Given the description of an element on the screen output the (x, y) to click on. 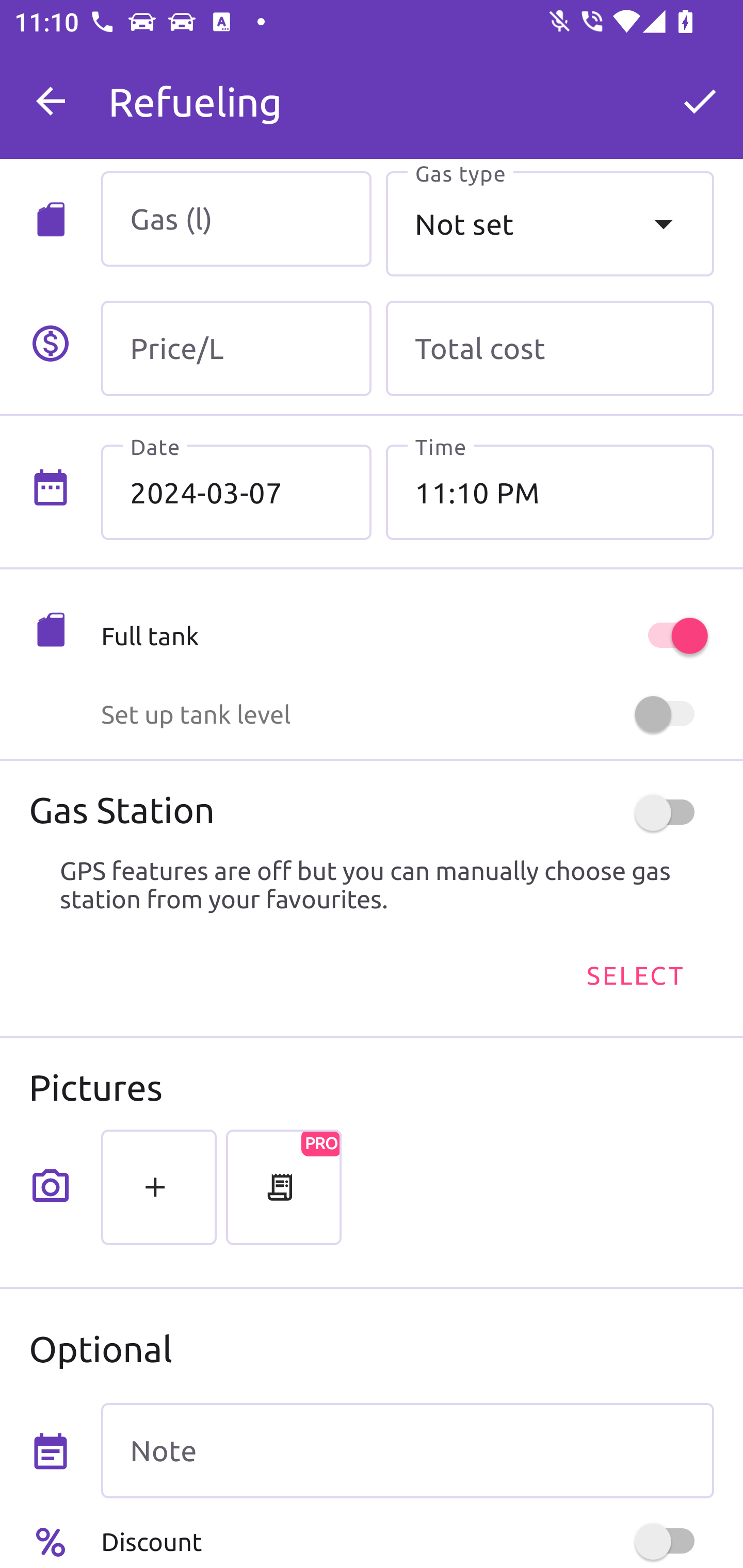
A No name 0 km (407, 92)
Navigate up (50, 101)
OK (699, 101)
Gas (l) (236, 218)
Not set (549, 222)
Price/L (236, 348)
Total cost  (549, 348)
2024-03-07 (236, 492)
11:10 PM (549, 492)
Full tank (407, 635)
Set up tank level (407, 713)
SELECT (634, 974)
Note (407, 1451)
Discount (407, 1541)
